Given the description of an element on the screen output the (x, y) to click on. 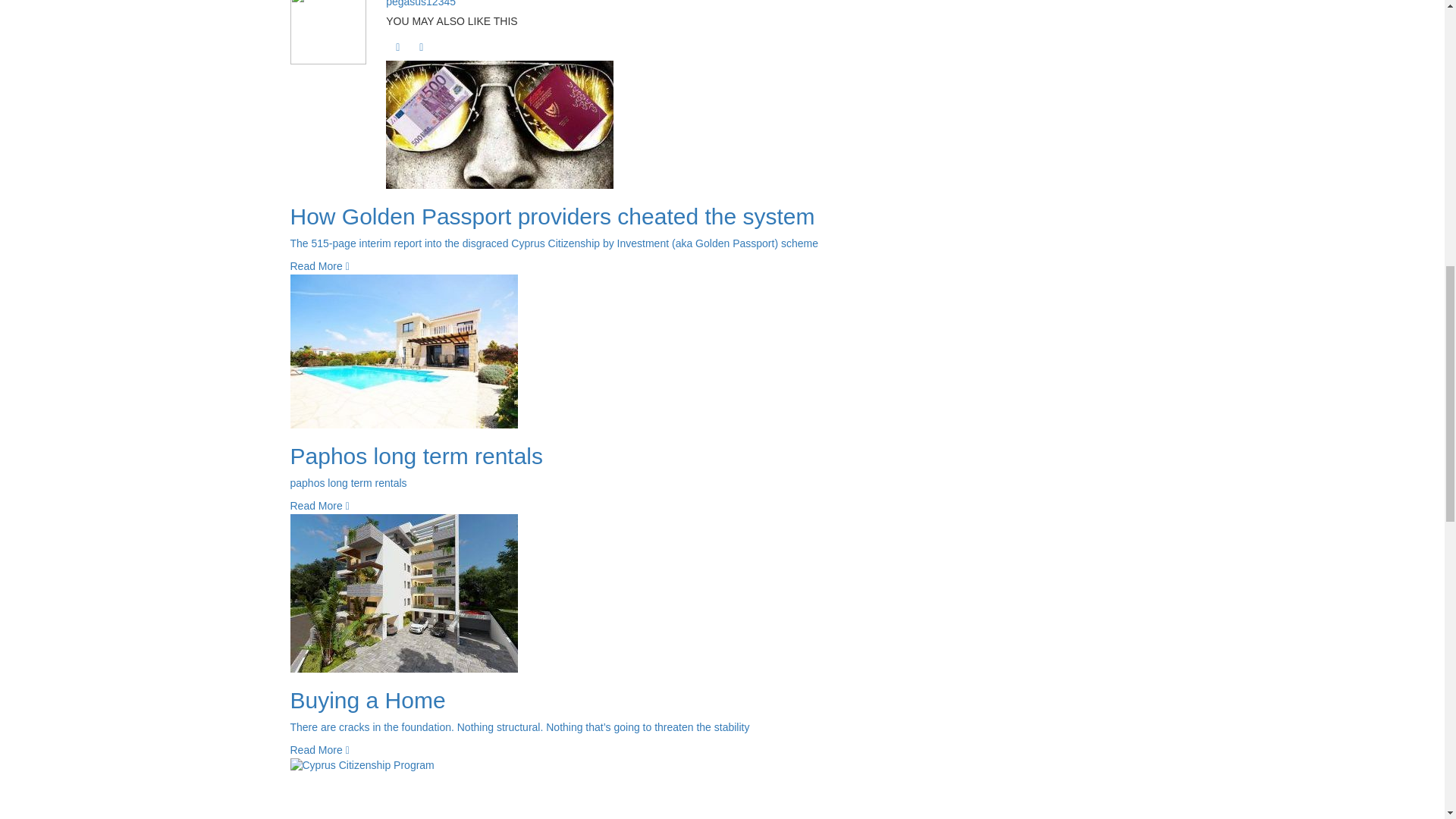
Read More (319, 265)
pegasus12345 (420, 3)
